Given the description of an element on the screen output the (x, y) to click on. 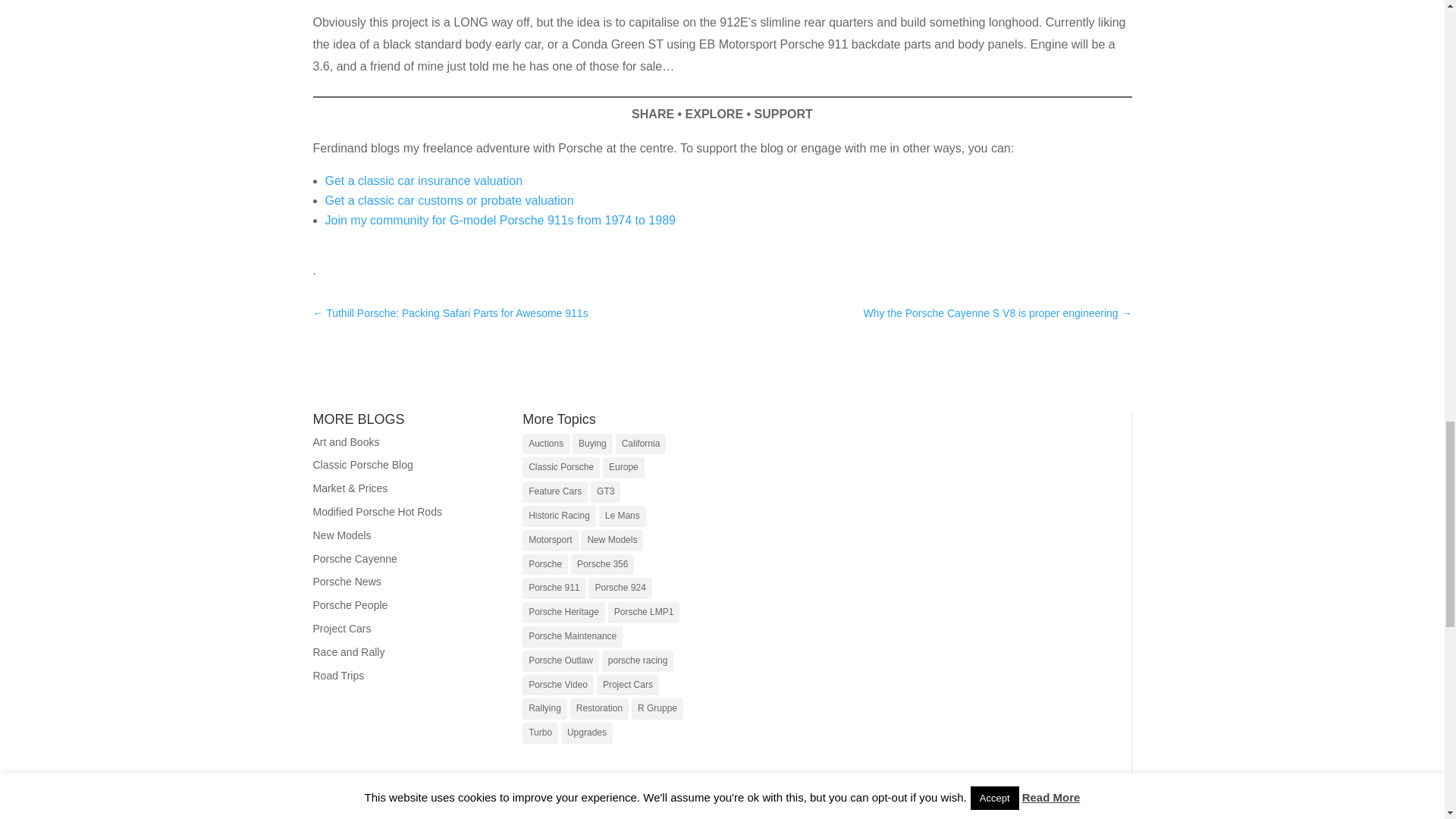
Join my community for G-model Porsche 911s from 1974 to 1989 (499, 219)
New Models (611, 540)
Porsche People (350, 604)
Le Mans (622, 516)
New Models (342, 535)
Feature Cars (555, 491)
Auctions (545, 444)
Road Trips (338, 675)
Get a classic car insurance valuation (423, 180)
Porsche (544, 564)
